Given the description of an element on the screen output the (x, y) to click on. 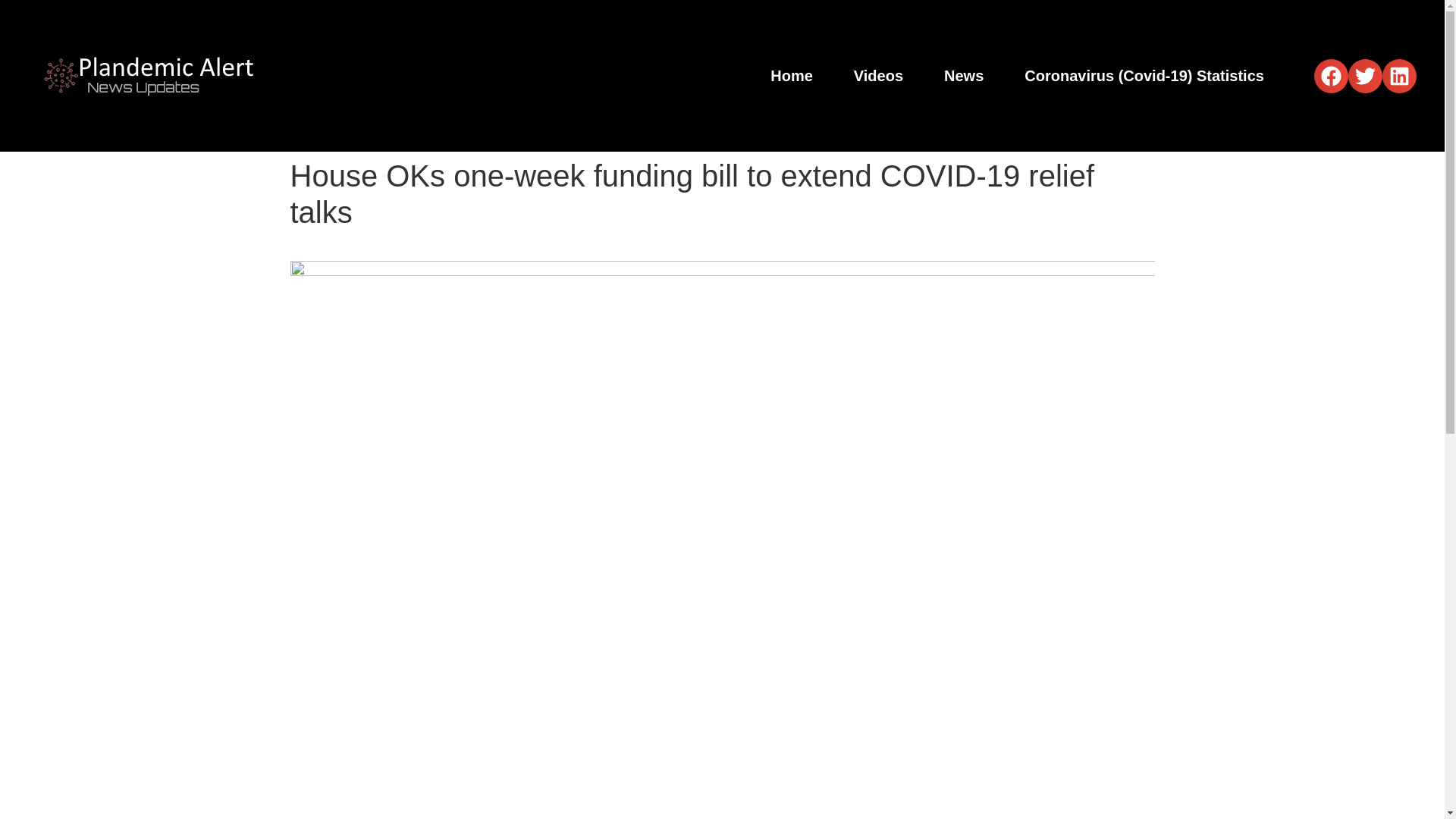
Videos (878, 75)
Home (791, 75)
News (963, 75)
